Given the description of an element on the screen output the (x, y) to click on. 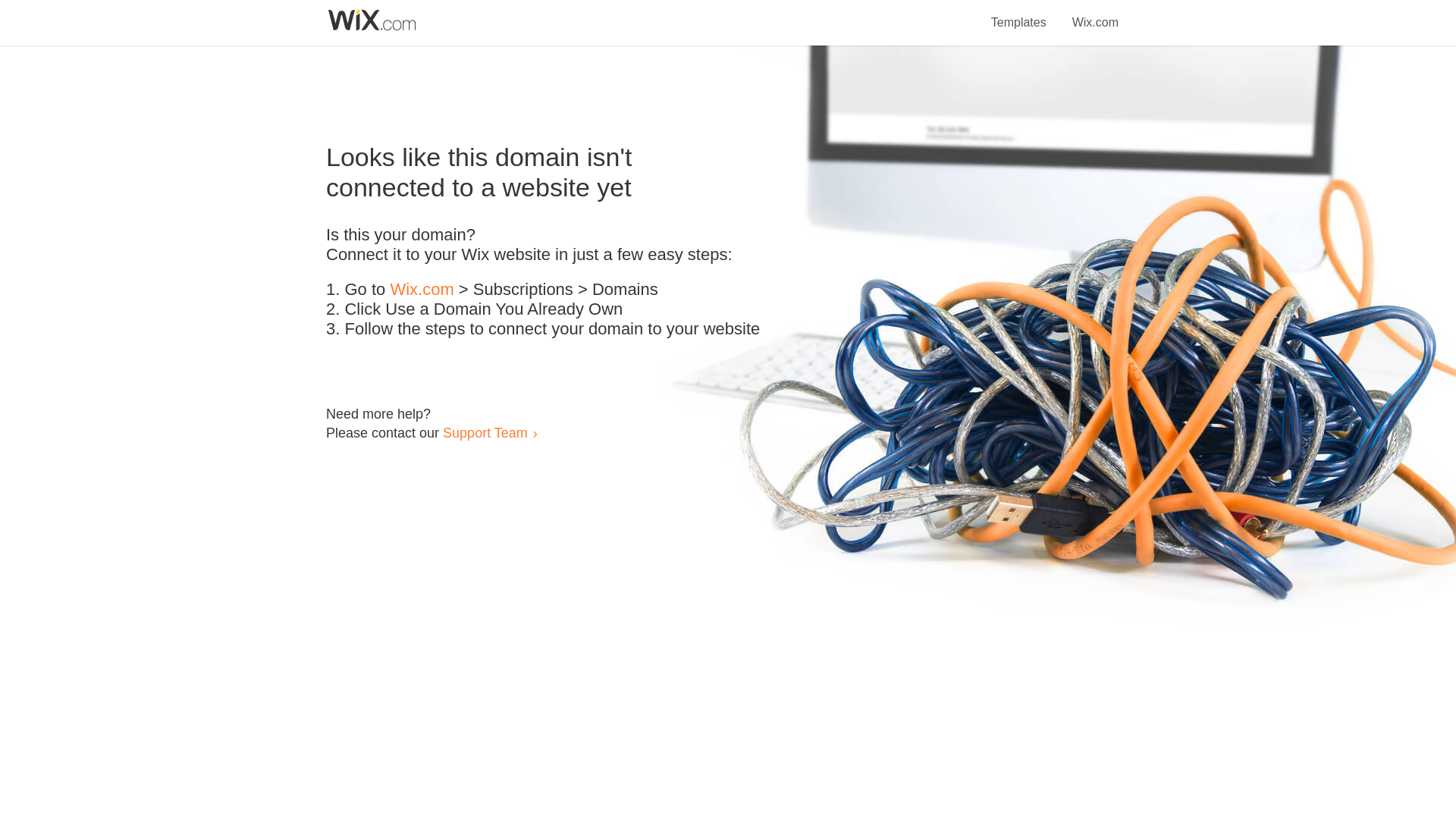
Wix.com (1095, 14)
Wix.com (421, 289)
Templates (1018, 14)
Support Team (484, 432)
